Given the description of an element on the screen output the (x, y) to click on. 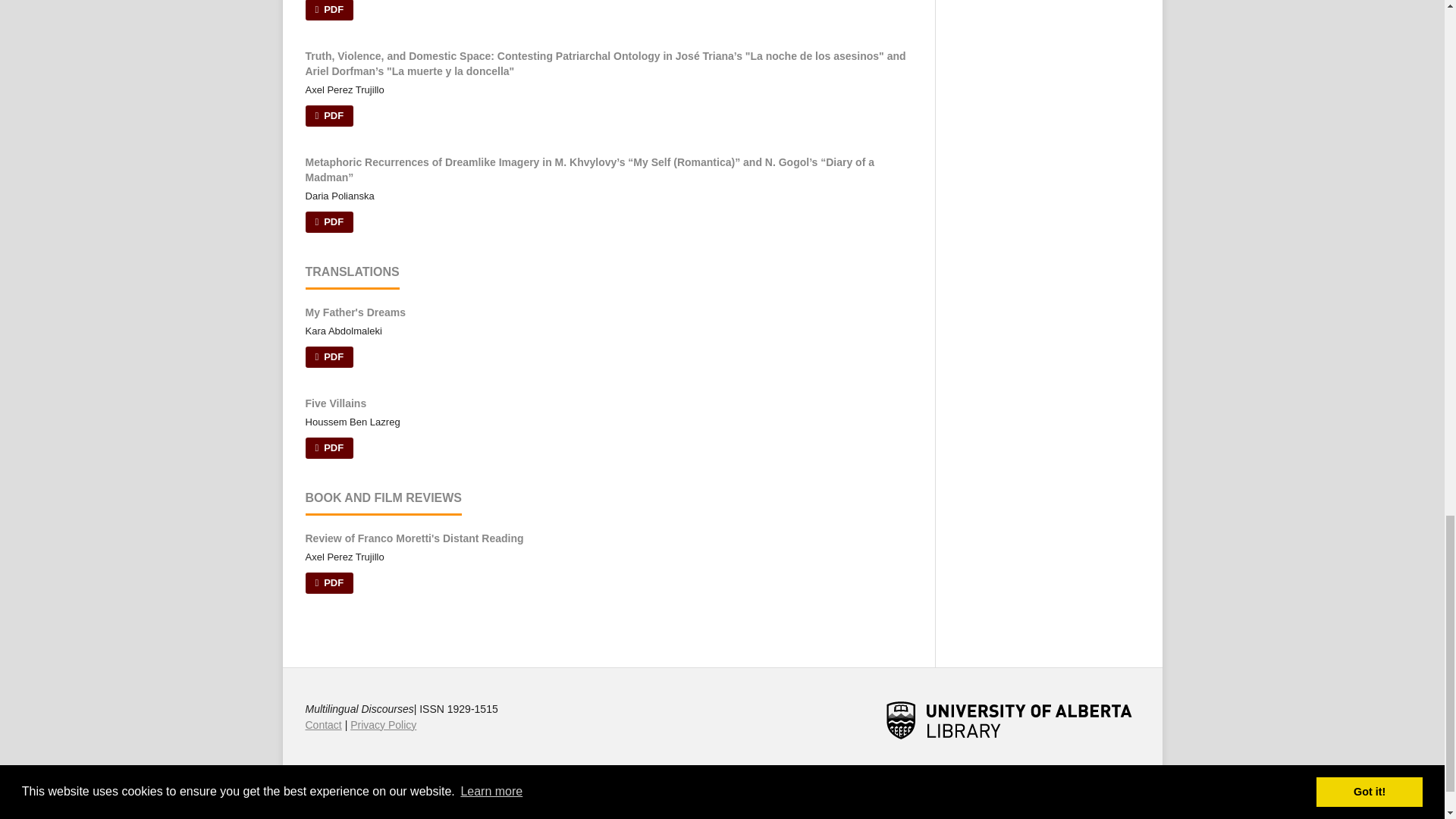
PDF (328, 221)
My Father's Dreams (355, 312)
PDF (328, 115)
PDF (328, 447)
Review of Franco Moretti's Distant Reading (413, 538)
PDF (328, 356)
PDF (328, 10)
Five Villains (335, 403)
PDF (328, 582)
